Given the description of an element on the screen output the (x, y) to click on. 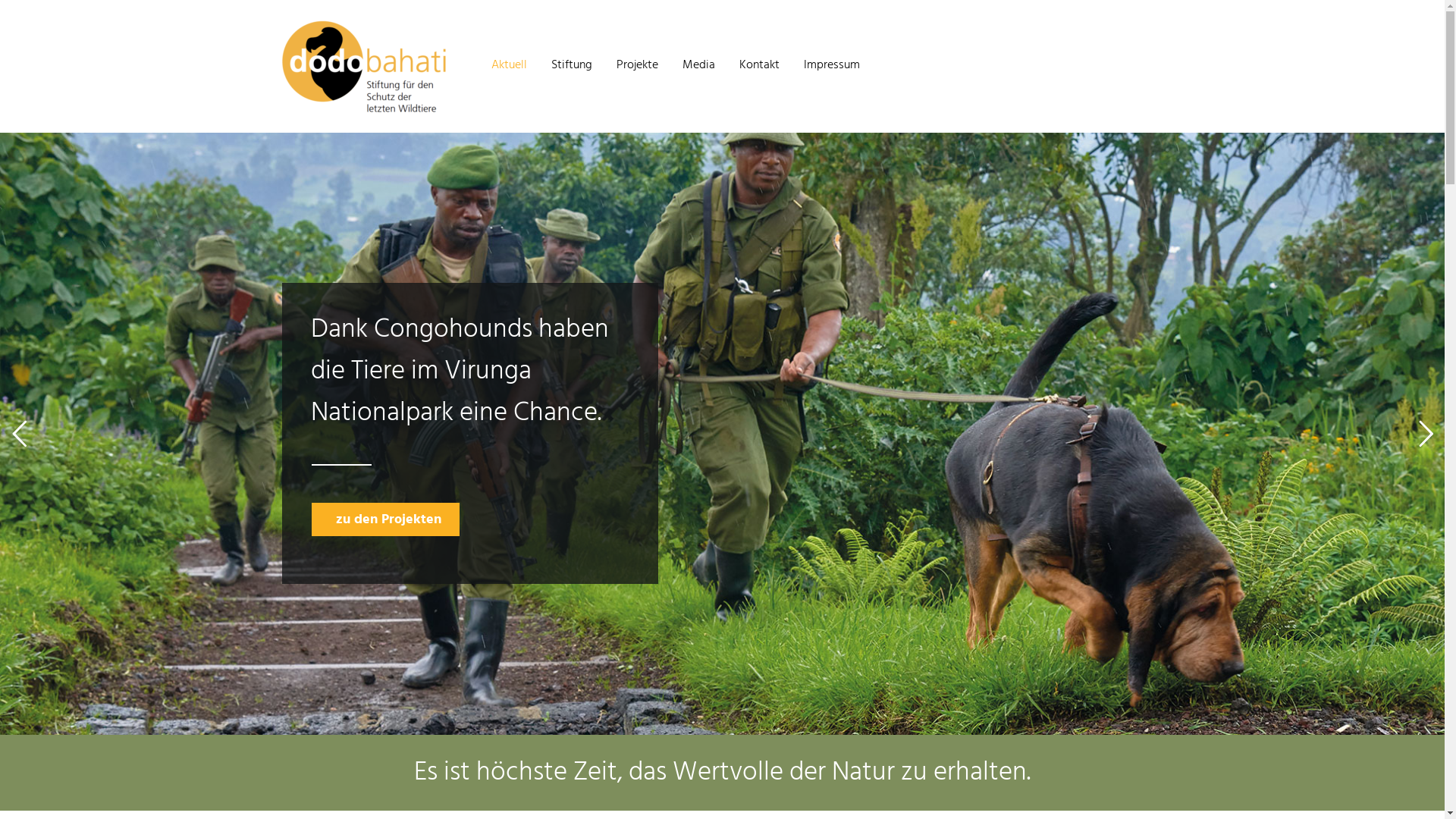
Impressum Element type: text (831, 66)
Aktuell Element type: text (509, 66)
Kontakt Element type: text (758, 66)
zu den Projekten Element type: text (385, 519)
Projekte Element type: text (636, 66)
Media Element type: text (698, 66)
Stiftung Element type: text (570, 66)
